Given the description of an element on the screen output the (x, y) to click on. 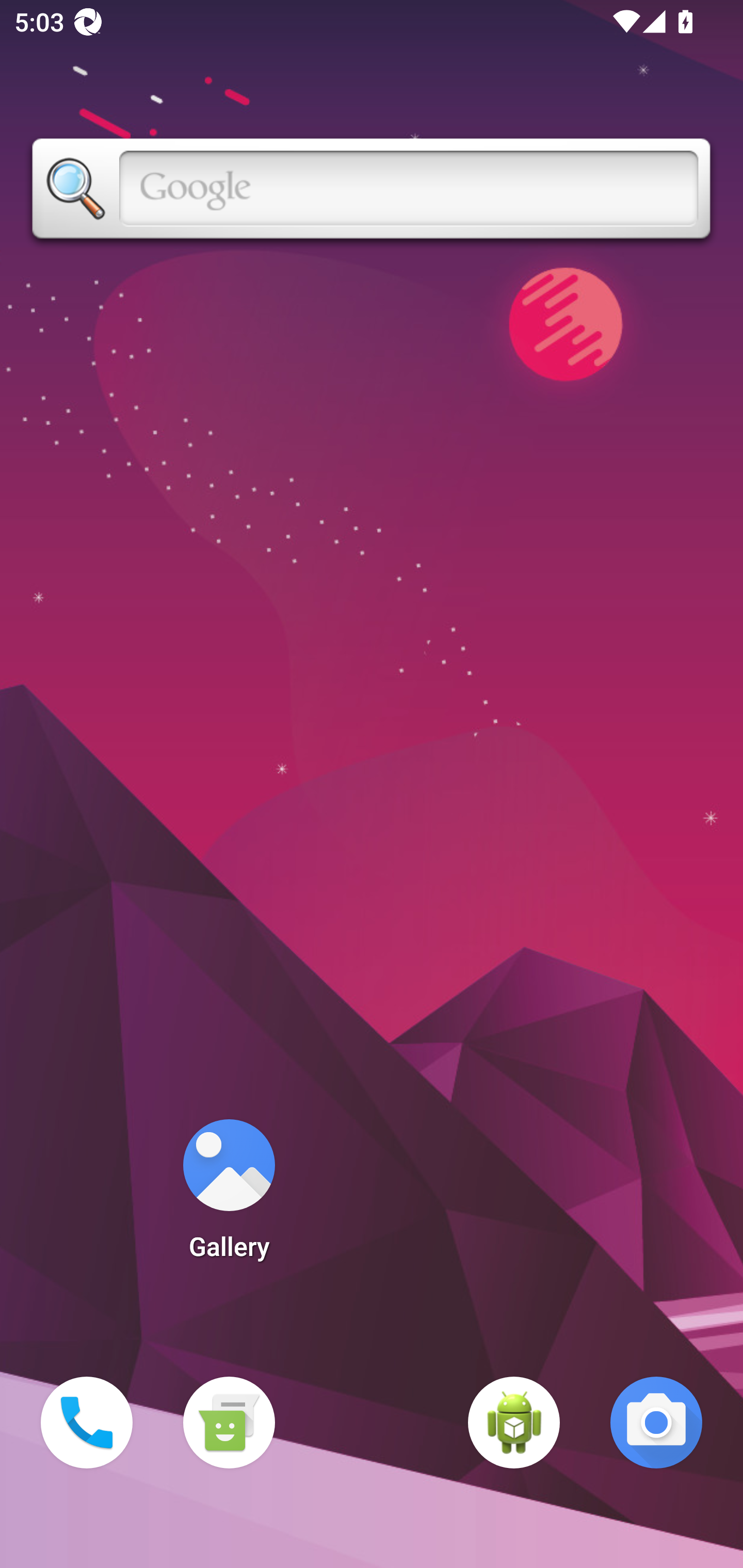
Gallery (228, 1195)
Phone (86, 1422)
Messaging (228, 1422)
WebView Browser Tester (513, 1422)
Camera (656, 1422)
